Given the description of an element on the screen output the (x, y) to click on. 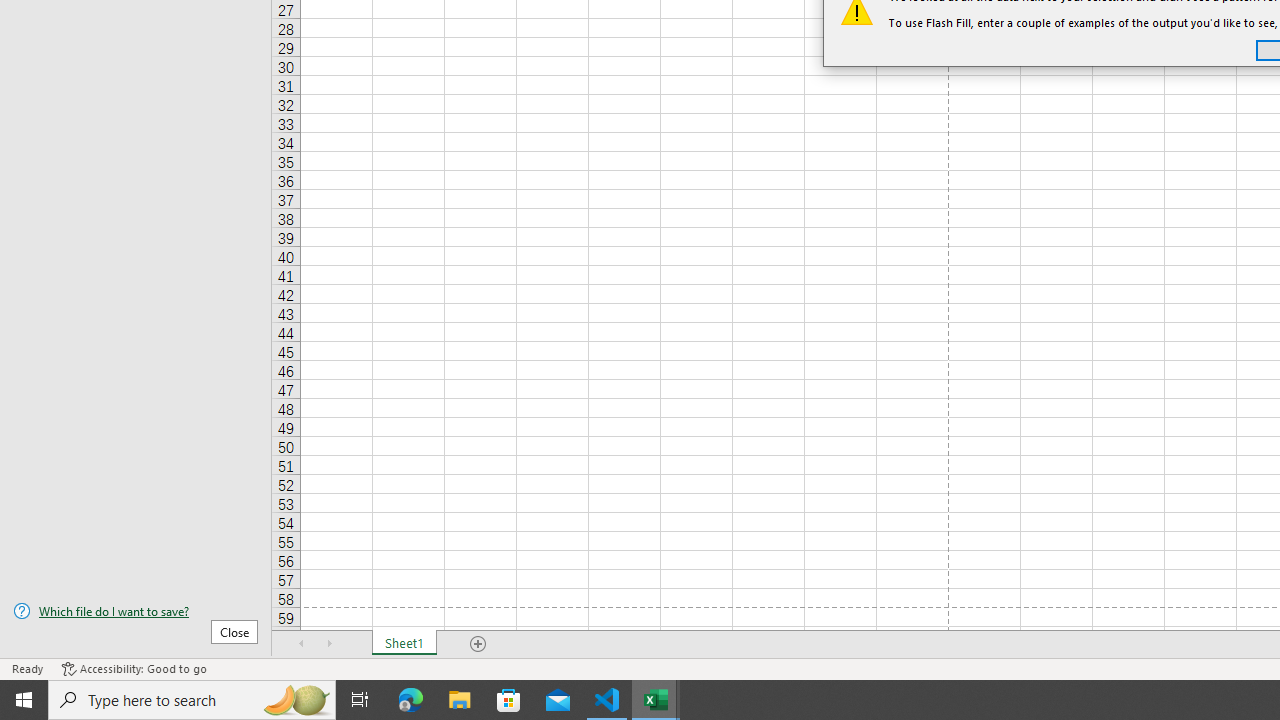
Microsoft Edge (411, 699)
